Given the description of an element on the screen output the (x, y) to click on. 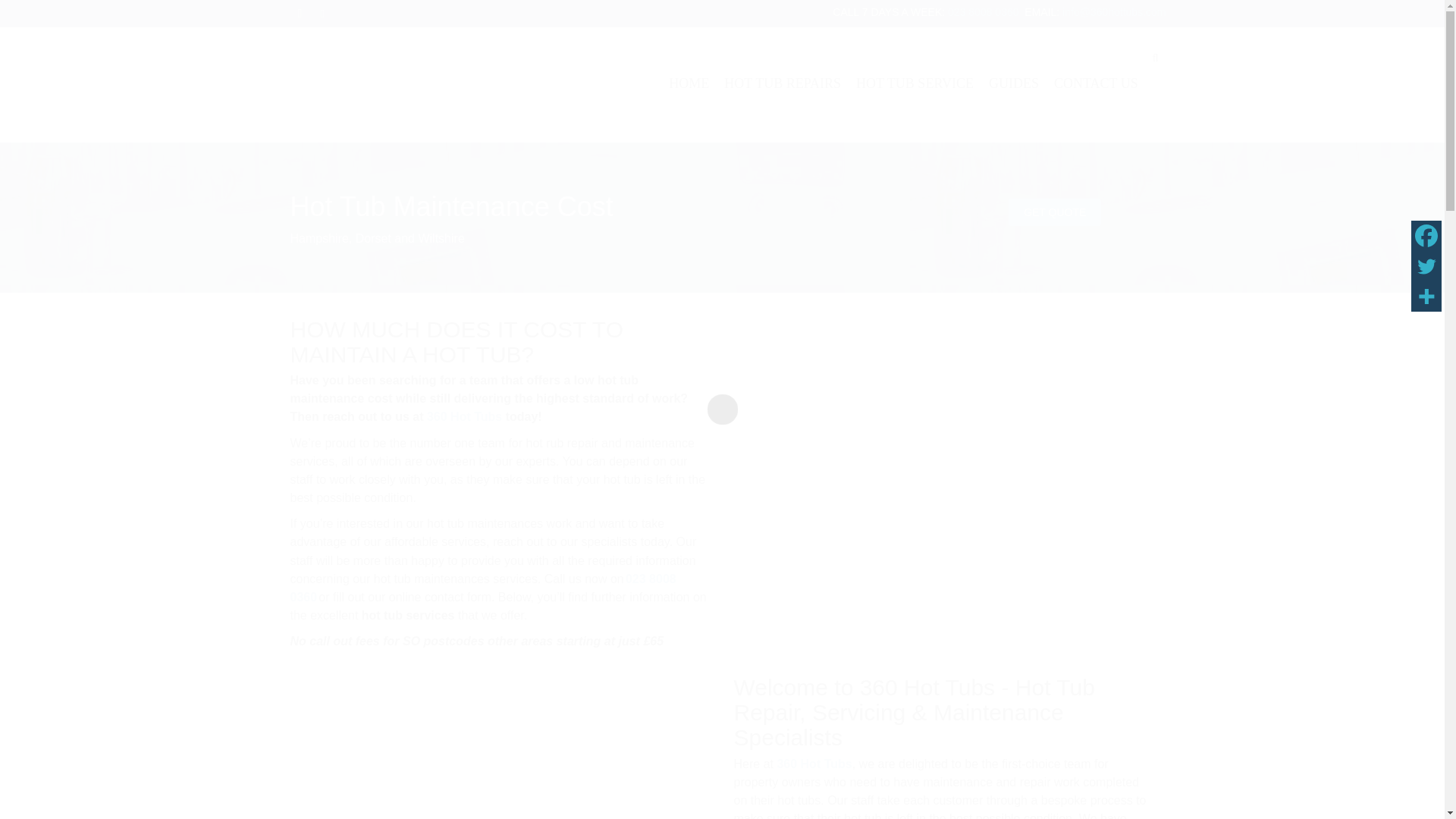
360 Hot Tubs (464, 416)
HOT TUB SERVICE (914, 71)
023 8008 0360 (982, 11)
CONTACT US (1095, 71)
Hot Tub Service (914, 71)
Hot tub Repairs (499, 772)
Hot Tub Repairs (782, 71)
360 Hot Tubs (813, 763)
Contact Us (1095, 71)
GET QUOTE (1054, 212)
GET QUOTE (1054, 212)
HOT TUB REPAIRS (782, 71)
023 8008 0360 (482, 587)
hot-tub-maintenance (943, 494)
